Given the description of an element on the screen output the (x, y) to click on. 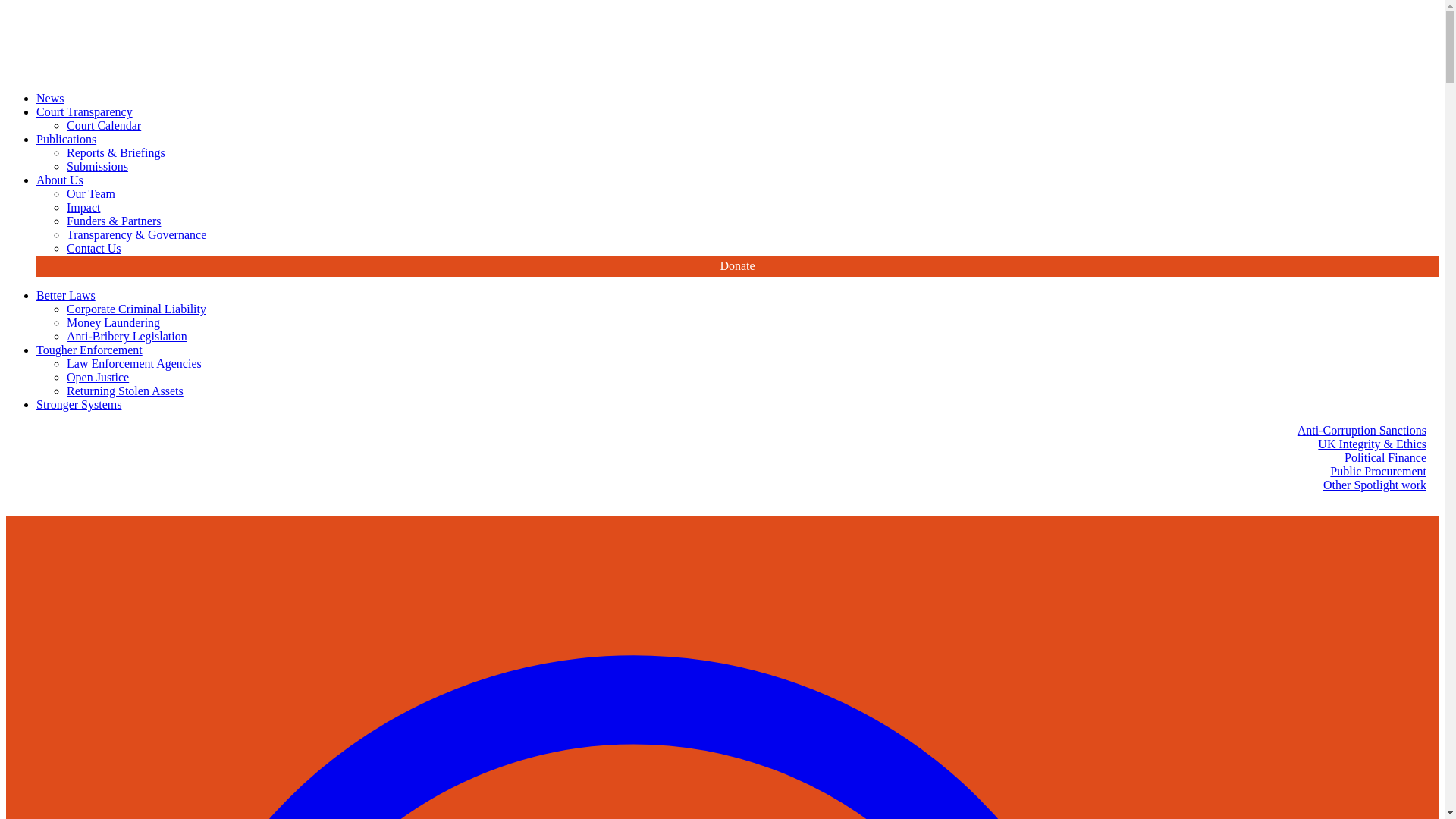
Stronger Systems (78, 404)
Contact Us (93, 247)
Anti-Bribery Legislation (126, 336)
Submissions (97, 165)
Political Finance (1384, 458)
Court Transparency (84, 111)
Public Procurement (1378, 471)
News (50, 97)
Money Laundering (113, 322)
Law Enforcement Agencies (134, 363)
